Given the description of an element on the screen output the (x, y) to click on. 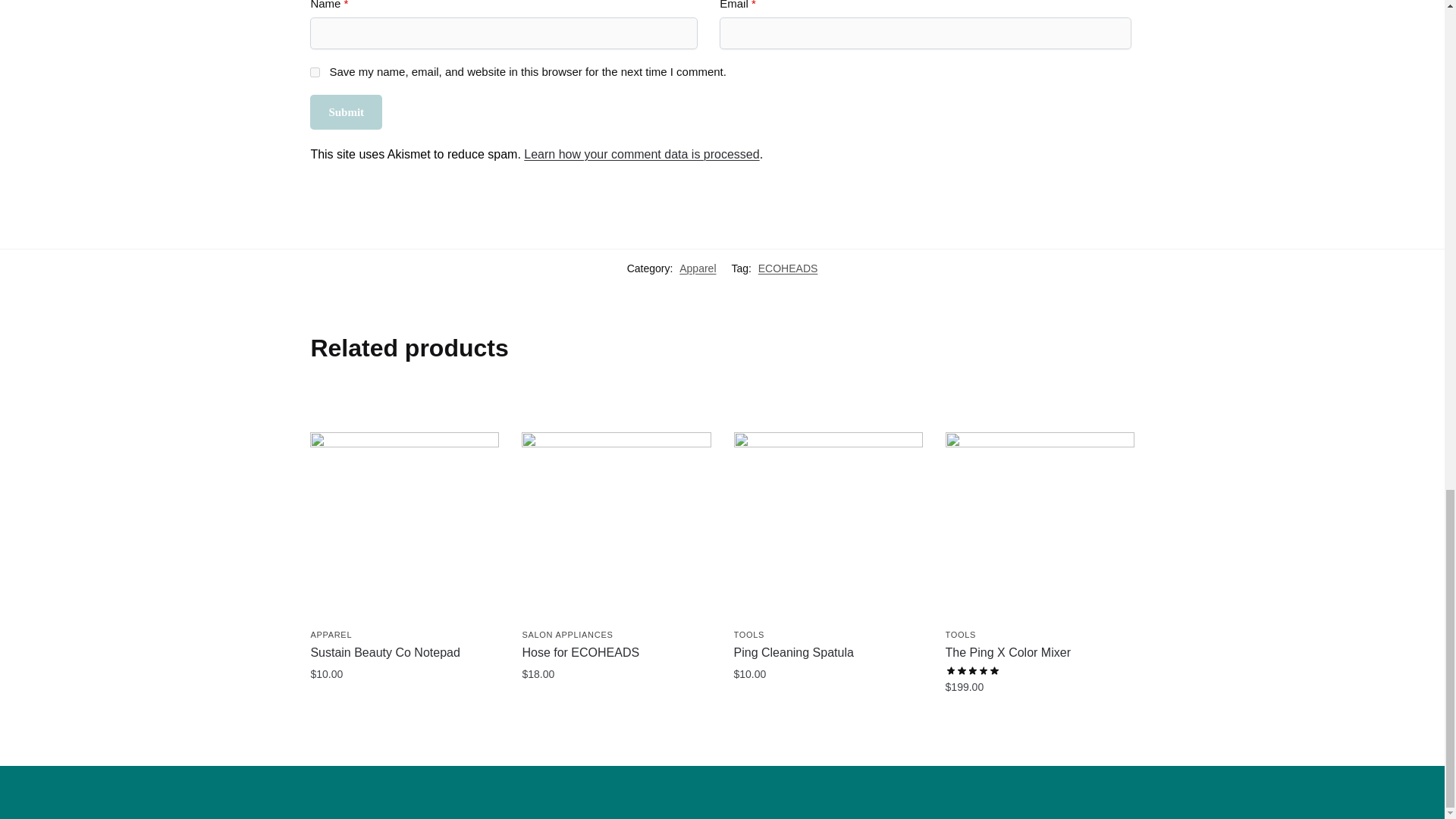
The Ping X Color Mixer (1039, 526)
Hose for ECOHEADS (615, 526)
Sustain Beauty Co Notepad (404, 526)
yes (315, 71)
Submit (345, 112)
Ping Cleaning Spatula (828, 526)
